Given the description of an element on the screen output the (x, y) to click on. 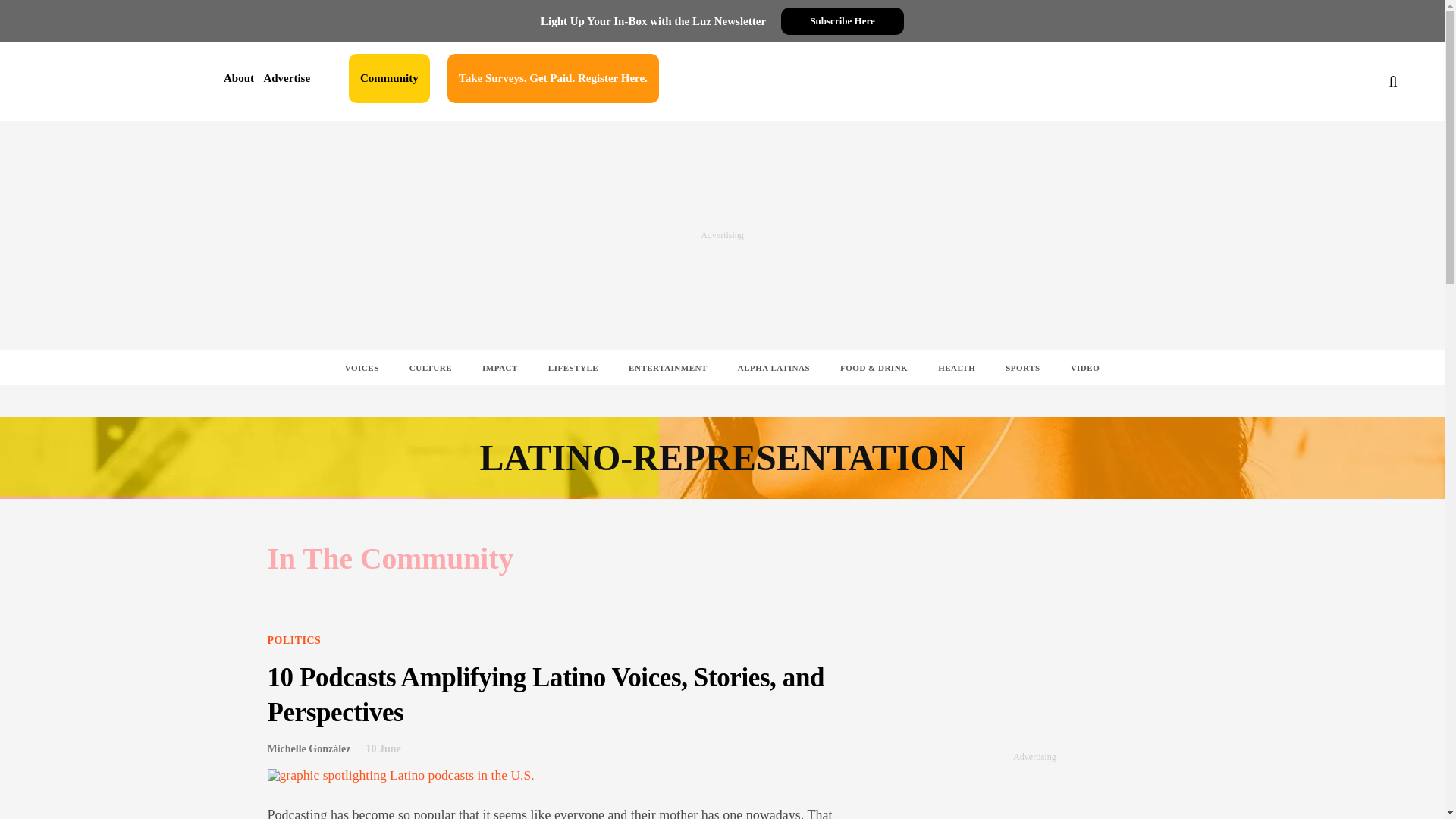
IMPACT (499, 367)
Advertise (286, 78)
ENTERTAINMENT (667, 367)
HEALTH (956, 367)
CULTURE (430, 367)
ALPHA LATINAS (773, 367)
VOICES (362, 367)
Subscribe Here (842, 21)
VIDEO (1085, 367)
Light Up Your In-Box with the Luz Newsletter (652, 21)
